Given the description of an element on the screen output the (x, y) to click on. 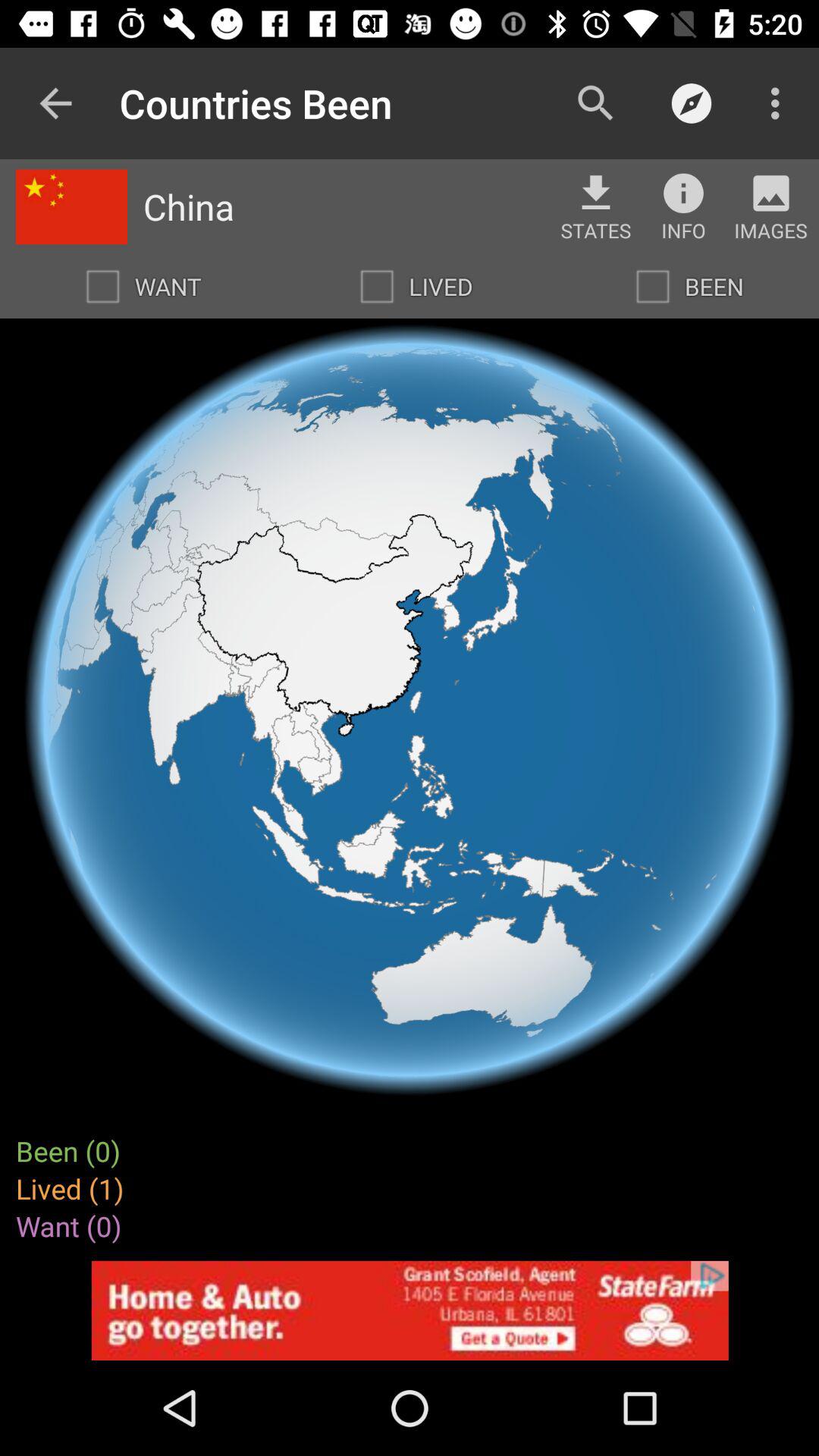
switch been option (652, 286)
